Given the description of an element on the screen output the (x, y) to click on. 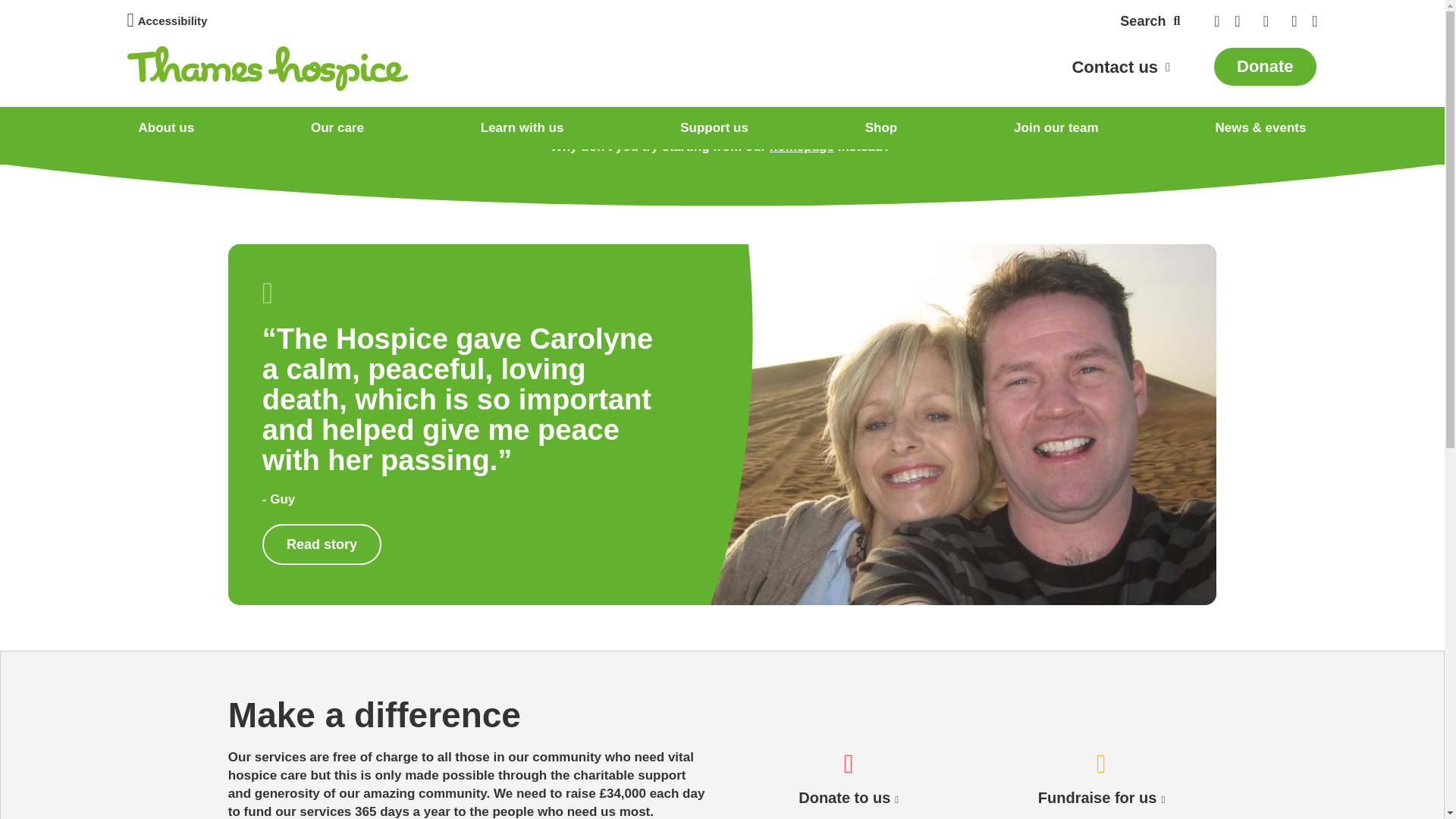
Donate (1264, 65)
Our care (337, 128)
About us (167, 128)
